Given the description of an element on the screen output the (x, y) to click on. 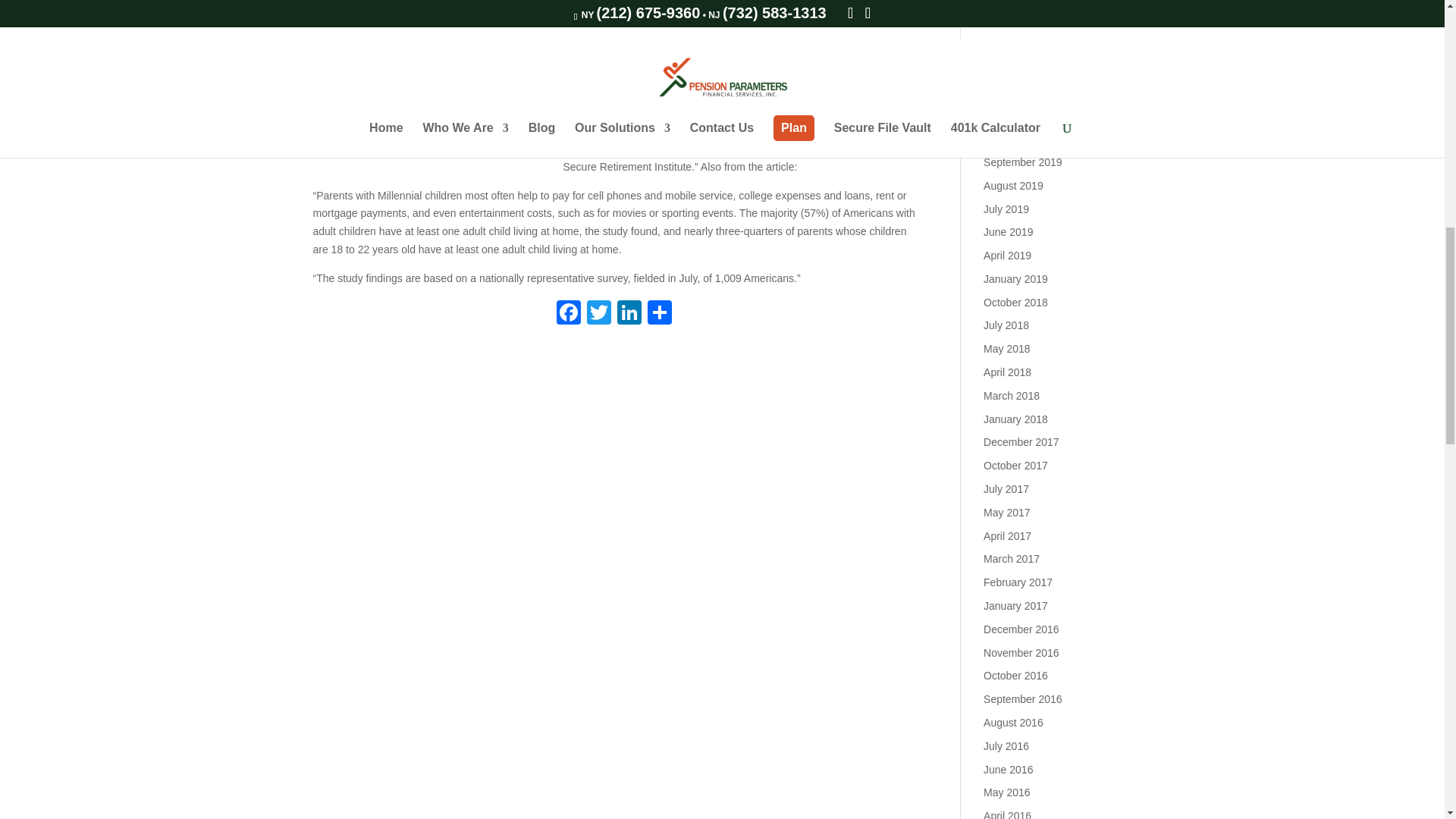
LinkedIn (629, 314)
Twitter (598, 314)
LinkedIn (629, 314)
Twitter (598, 314)
Facebook (568, 314)
Facebook (568, 314)
